Given the description of an element on the screen output the (x, y) to click on. 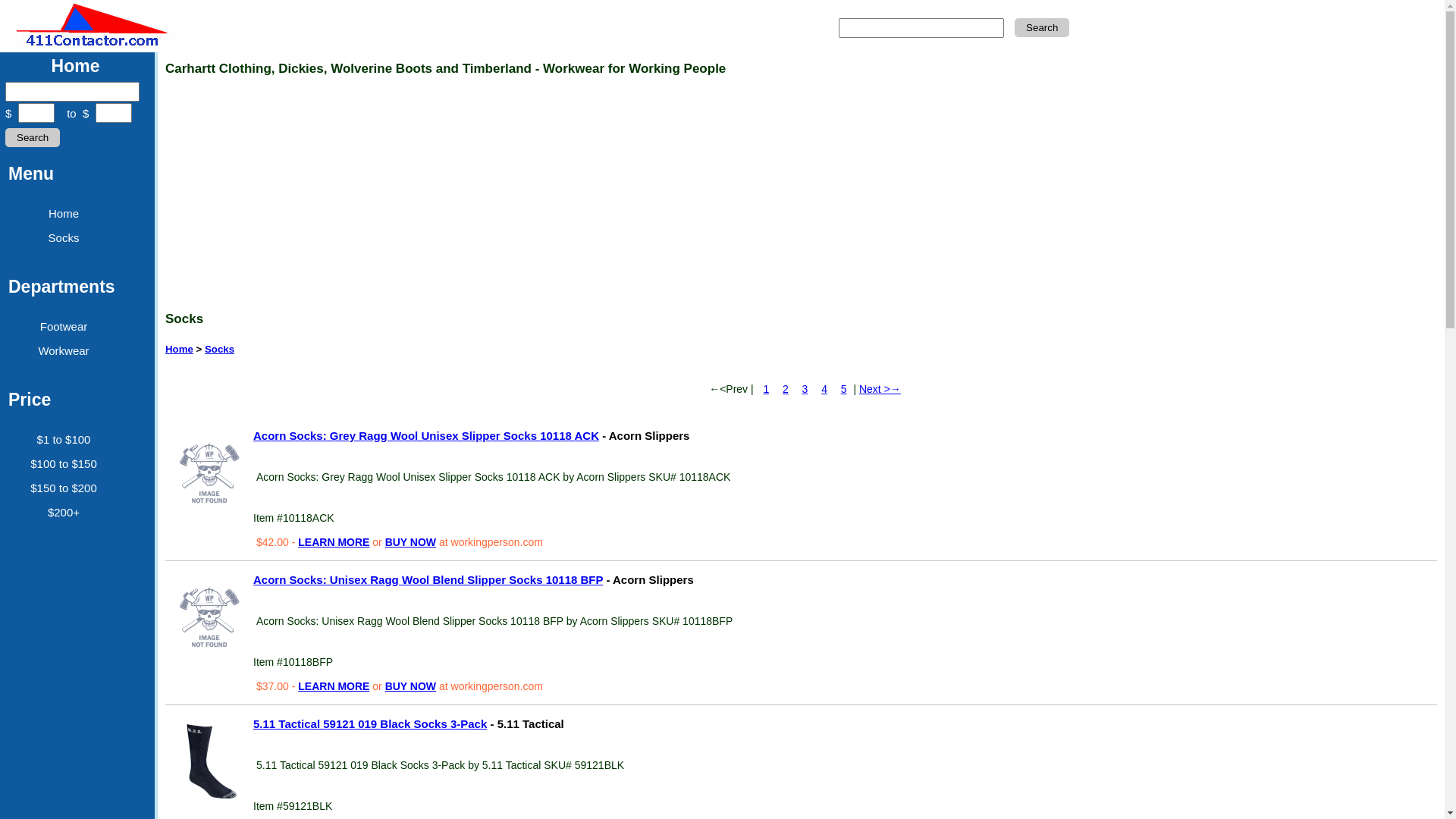
1 Element type: text (765, 388)
Search Element type: text (1041, 27)
BUY NOW Element type: text (410, 542)
Home Element type: text (75, 65)
Acorn Socks: Unisex Ragg Wool Blend Slipper Socks 10118 BFP Element type: text (427, 579)
Socks Element type: text (219, 348)
LEARN MORE Element type: text (333, 542)
5.11 Tactical 59121 019 Black Socks 3-Pack Element type: hover (209, 761)
Home Element type: text (63, 213)
Footwear Element type: text (63, 326)
$200+ Element type: text (63, 511)
5.11 Tactical 59121 019 Black Socks 3-Pack Element type: text (369, 723)
Acorn Socks: Grey Ragg Wool Unisex Slipper Socks 10118 ACK Element type: hover (209, 473)
Acorn Socks: Grey Ragg Wool Unisex Slipper Socks 10118 ACK Element type: text (426, 435)
$150 to $200 Element type: text (63, 487)
Acorn Socks: Unisex Ragg Wool Blend Slipper Socks 10118 BFP Element type: hover (209, 617)
LEARN MORE Element type: text (333, 686)
$1 to $100 Element type: text (64, 439)
Advertisement Element type: hover (627, 193)
$100 to $150 Element type: text (63, 463)
Workwear Element type: text (62, 350)
Search Element type: text (32, 137)
3 Element type: text (805, 388)
2 Element type: text (785, 388)
$37.00 Element type: text (273, 686)
BUY NOW Element type: text (410, 686)
Home Element type: text (179, 348)
4 Element type: text (824, 388)
5 Element type: text (843, 388)
$42.00 Element type: text (273, 542)
Socks Element type: text (63, 237)
